Given the description of an element on the screen output the (x, y) to click on. 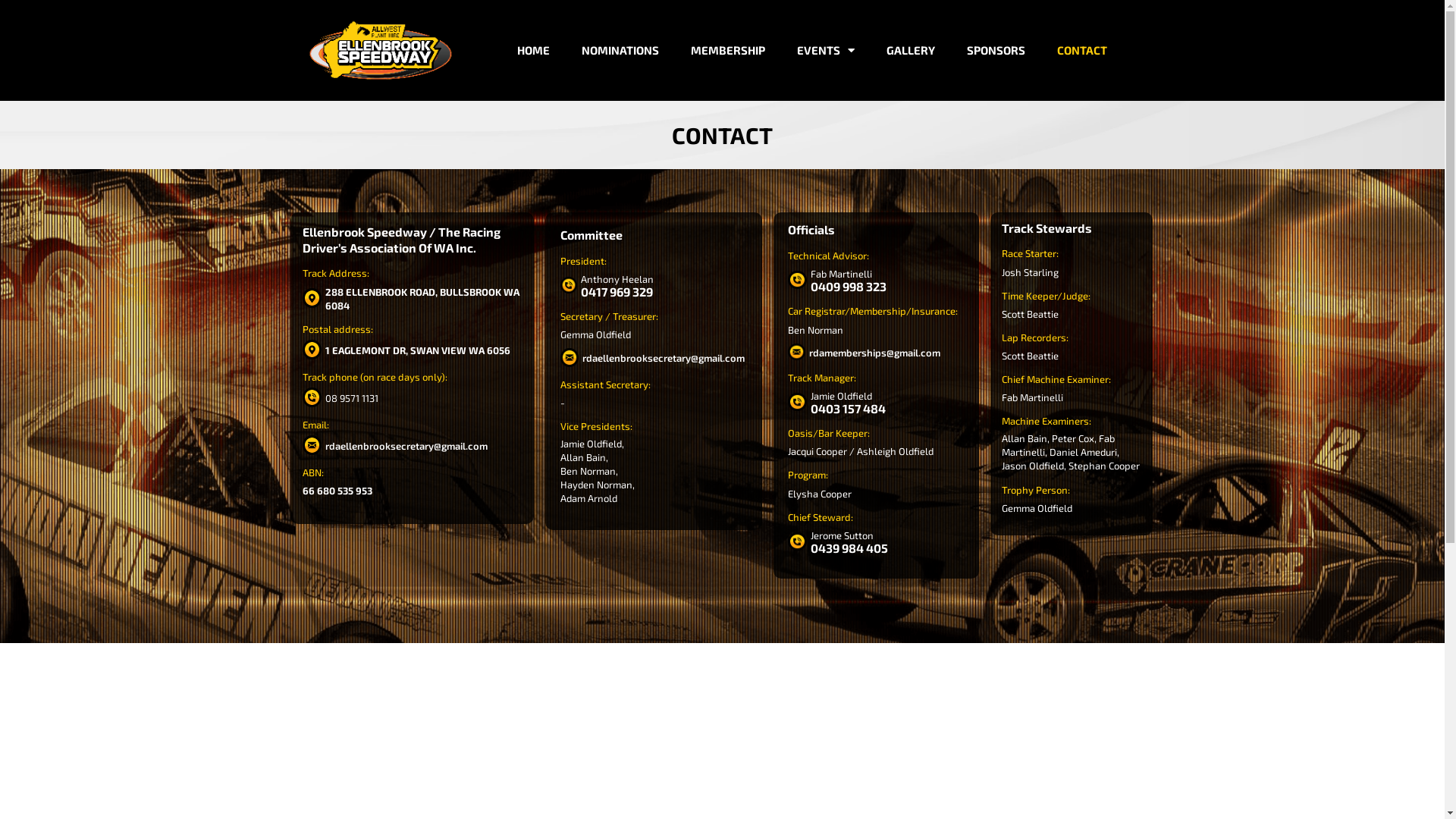
EVENTS Element type: text (825, 50)
NOMINATIONS Element type: text (620, 50)
HOME Element type: text (533, 50)
SPONSORS Element type: text (995, 50)
MEMBERSHIP Element type: text (727, 50)
Skip to content Element type: text (11, 31)
CONTACT Element type: text (1081, 50)
GALLERY Element type: text (910, 50)
